Given the description of an element on the screen output the (x, y) to click on. 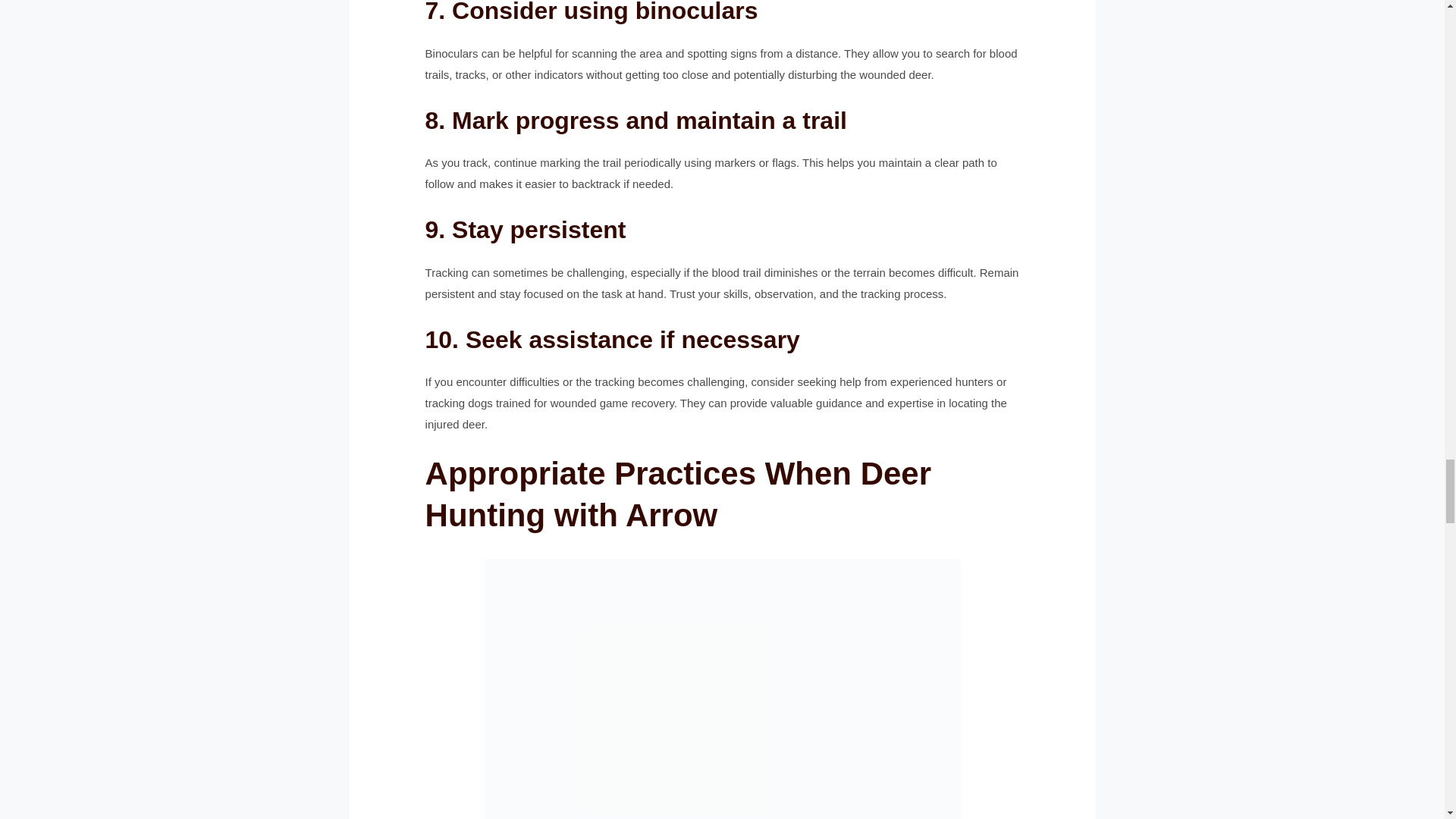
Arrow Stuck In Deer No Blood 9 (721, 688)
